Given the description of an element on the screen output the (x, y) to click on. 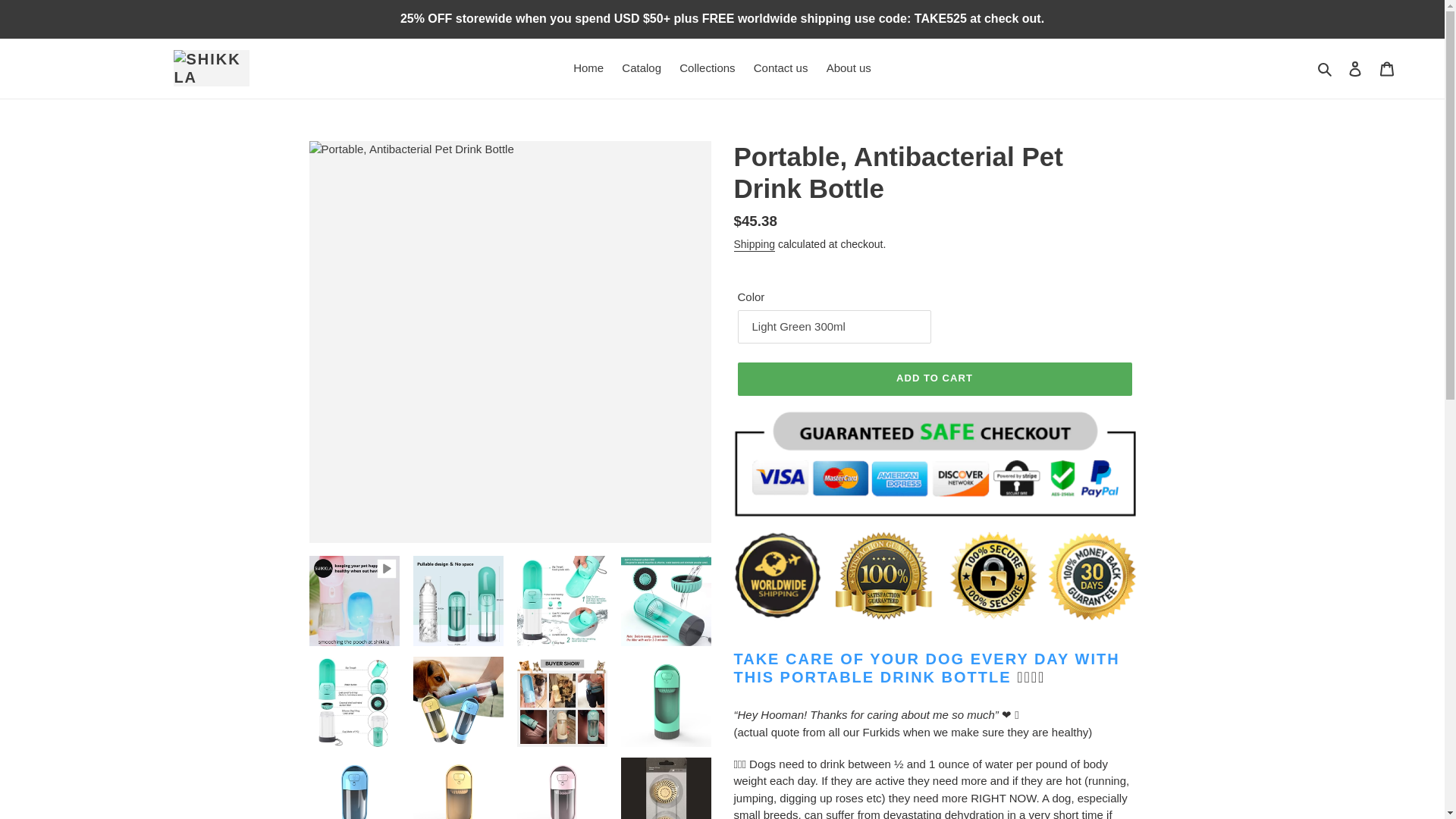
Log in (1355, 68)
Search (1326, 67)
Home (588, 68)
Contact us (780, 68)
About us (848, 68)
Catalog (641, 68)
Cart (1387, 68)
Collections (706, 68)
